Given the description of an element on the screen output the (x, y) to click on. 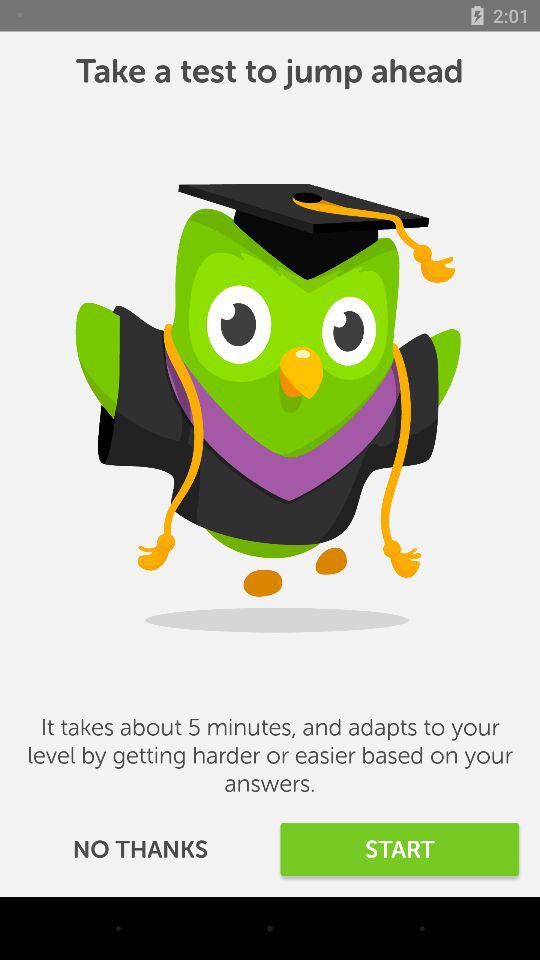
choose item to the left of the start icon (140, 849)
